Given the description of an element on the screen output the (x, y) to click on. 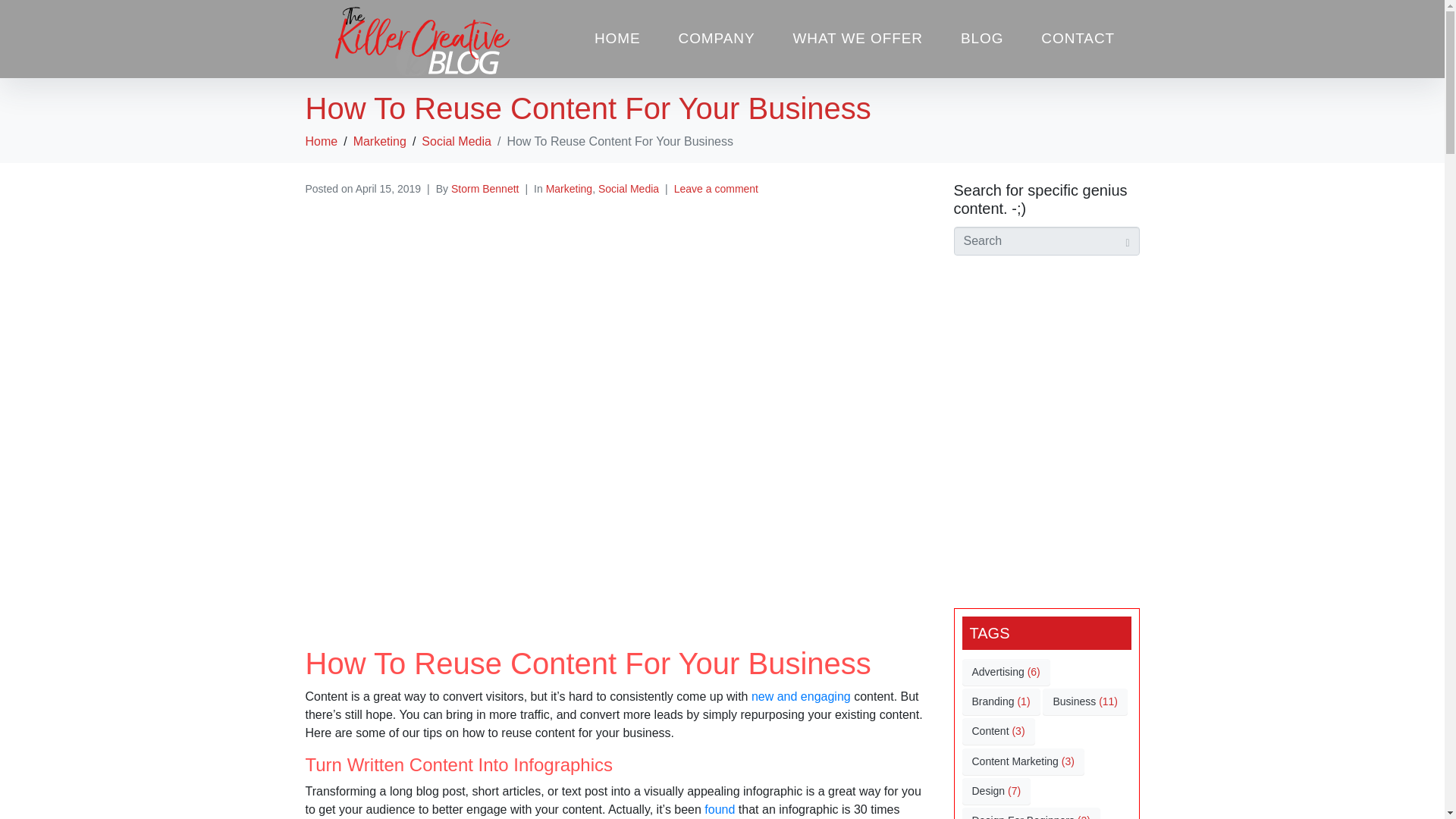
Marketing (379, 141)
Social Media (457, 141)
COMPANY (716, 38)
Home (320, 141)
Storm Bennett (485, 188)
CONTACT (1077, 38)
WHAT WE OFFER (857, 38)
